Given the description of an element on the screen output the (x, y) to click on. 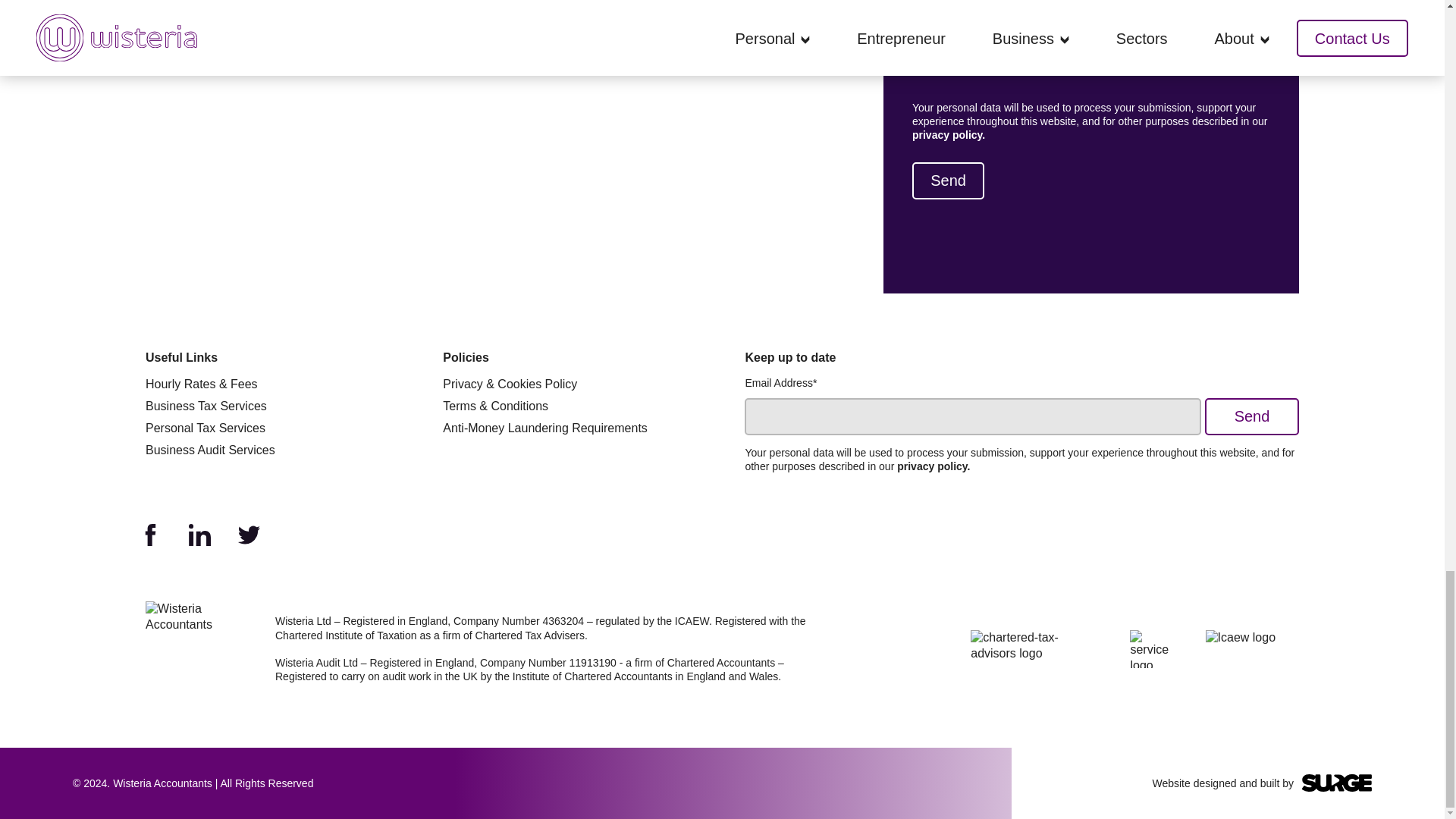
email (918, 67)
privacy policy. (948, 134)
Surge Marketing Solutions Logo (1336, 782)
phone (1103, 67)
LinkedIn (200, 535)
Twitter (249, 535)
Facebook (150, 535)
